Given the description of an element on the screen output the (x, y) to click on. 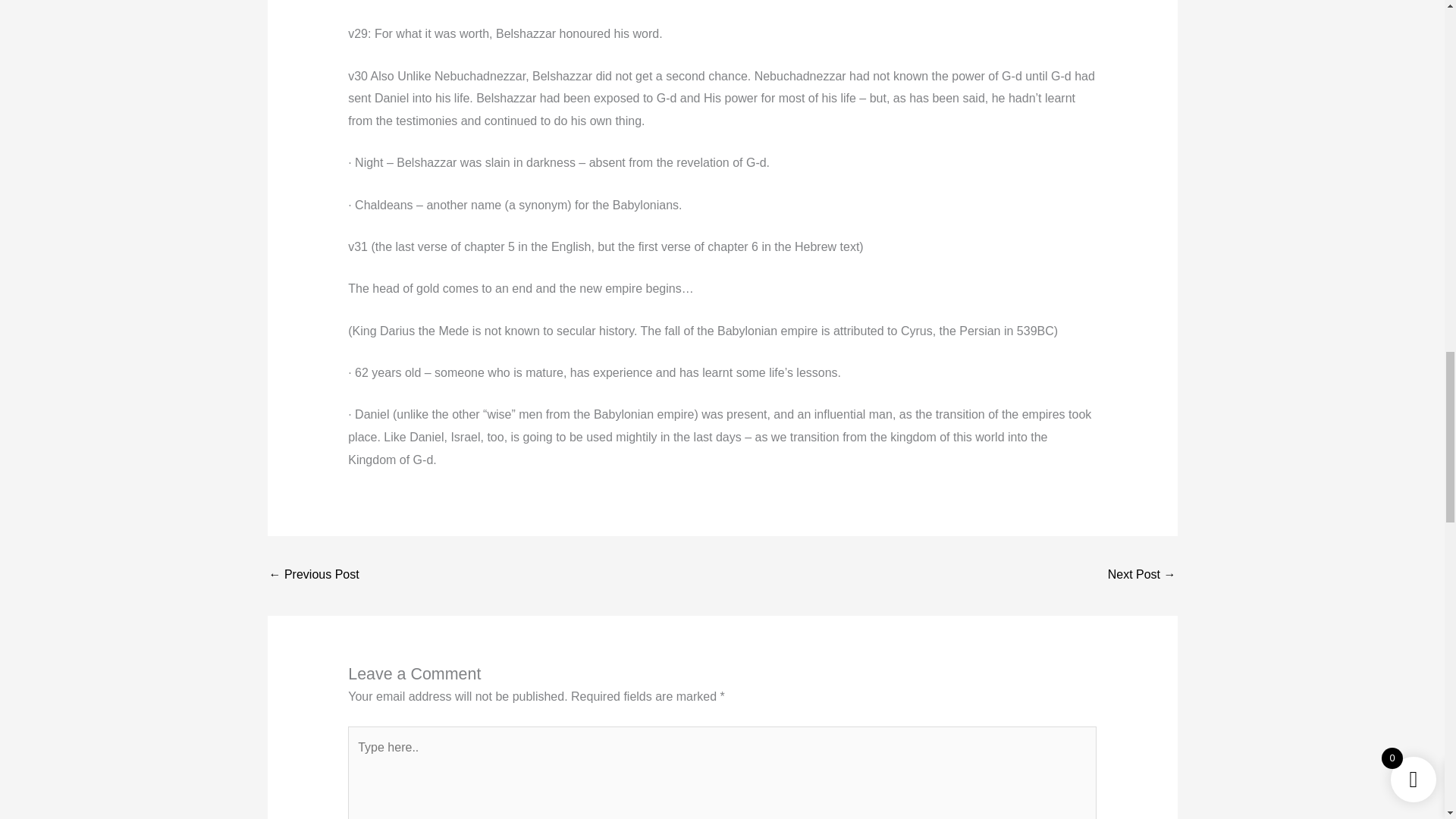
The Book of Daniel Bible Study Chapter 5 Part 1 (312, 575)
The Book of Daniel Bible Study Chapter 6 Part 1 (1142, 575)
